Given the description of an element on the screen output the (x, y) to click on. 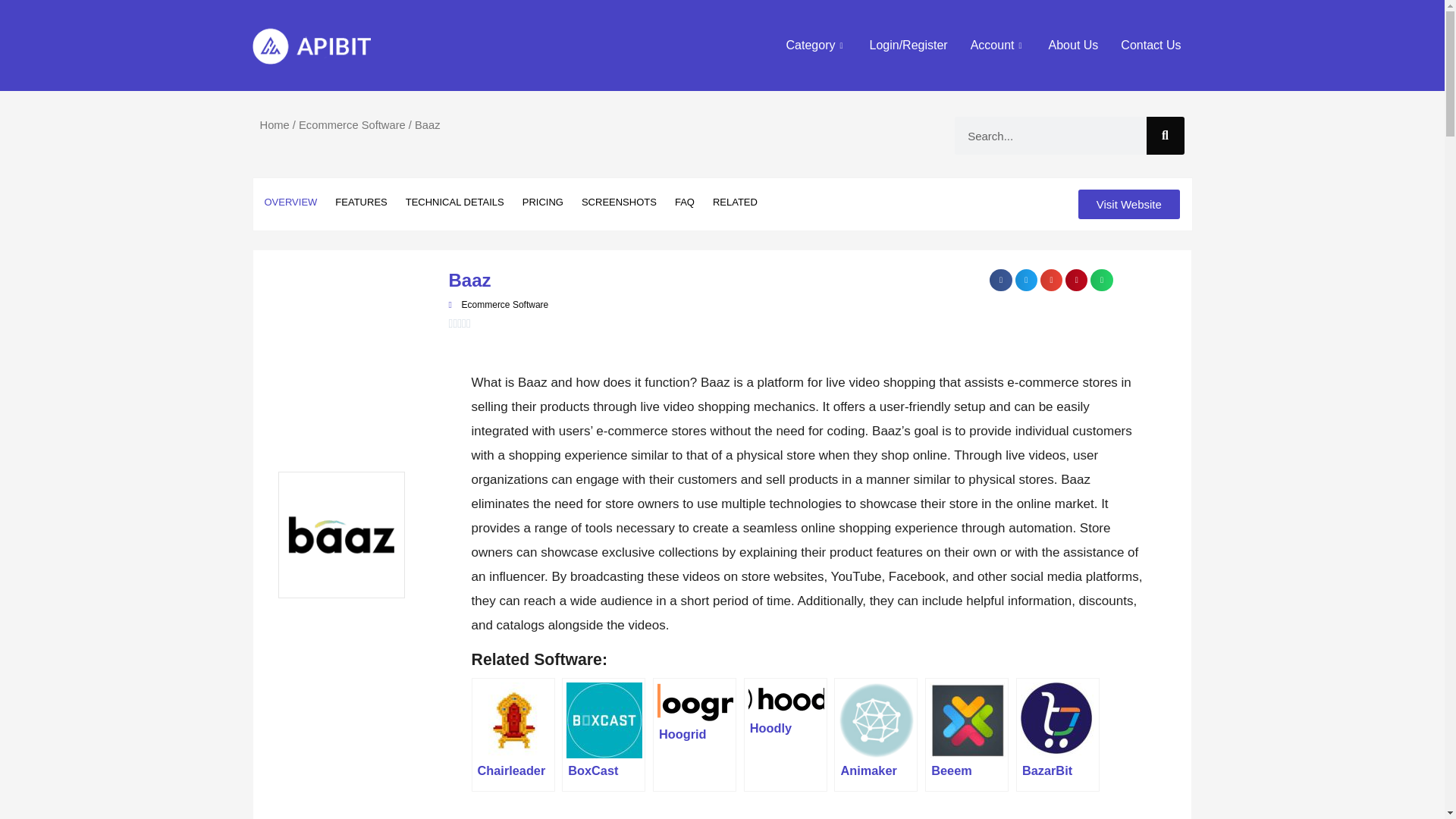
BazarBit 12 (1058, 720)
Account (997, 45)
Category (816, 45)
BoxCast 8 (604, 720)
Beeem 11 (968, 720)
Chairleader 7 (513, 720)
Hoogrid 9 (695, 701)
Hoodly 10 (786, 698)
